Given the description of an element on the screen output the (x, y) to click on. 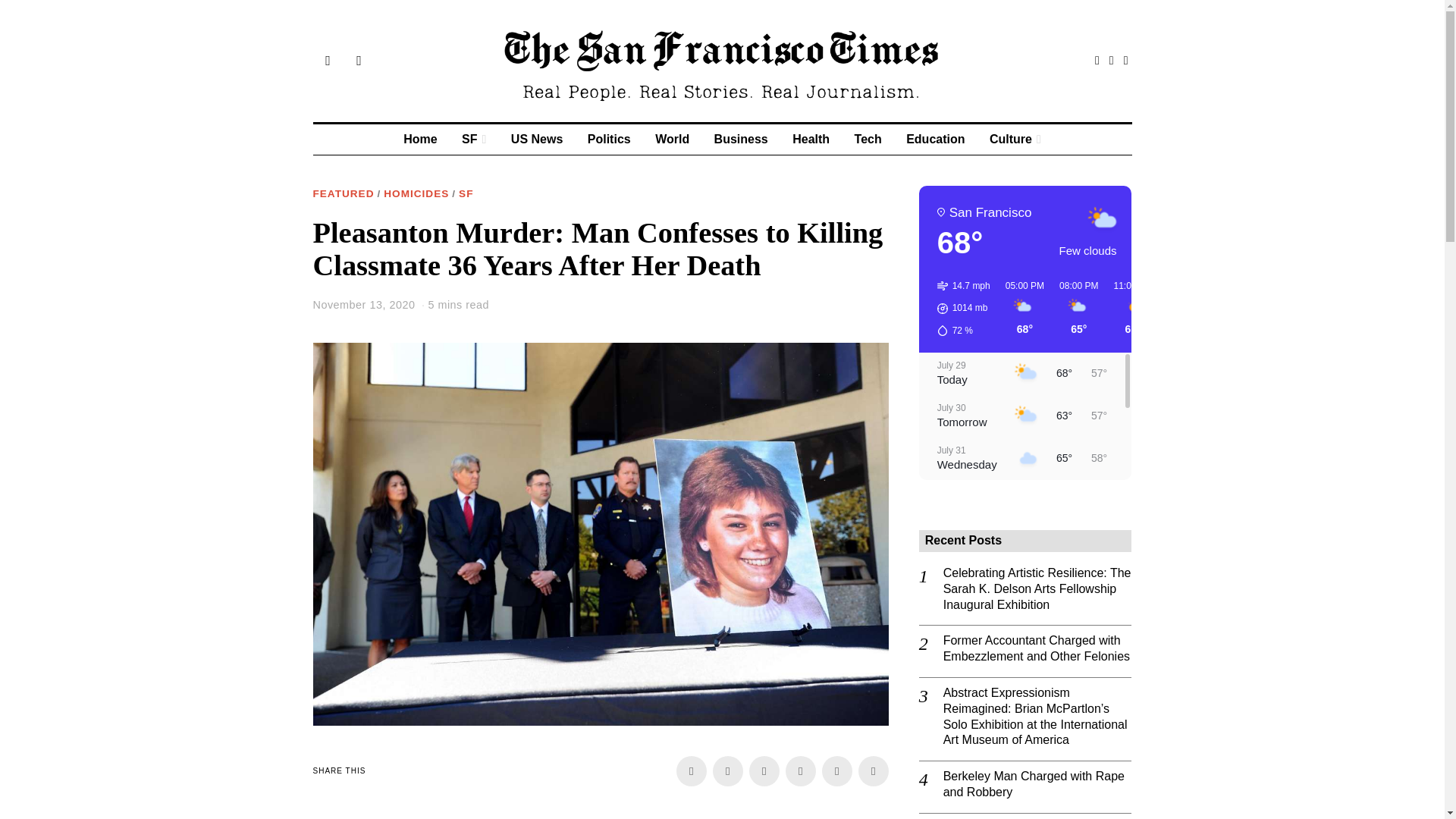
Humidity (963, 330)
SF (473, 139)
Business (740, 139)
Pressure (963, 308)
Tech (868, 139)
Home (419, 139)
Politics (609, 139)
HOMICIDES (416, 194)
Education (935, 139)
World (672, 139)
Culture (1014, 139)
SF (465, 194)
Wind (963, 285)
Health (810, 139)
US News (536, 139)
